Given the description of an element on the screen output the (x, y) to click on. 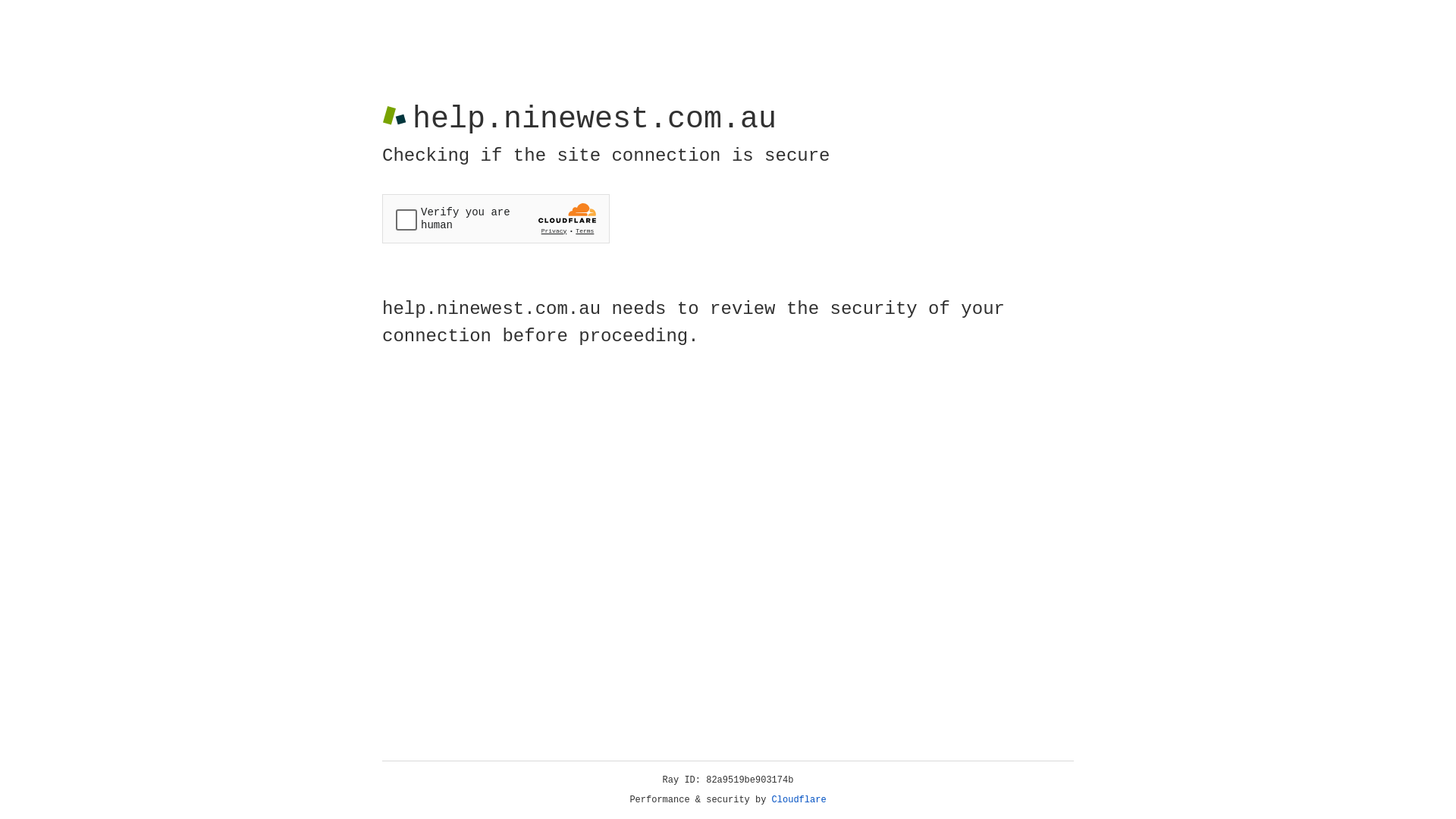
Widget containing a Cloudflare security challenge Element type: hover (495, 218)
Cloudflare Element type: text (798, 799)
